Given the description of an element on the screen output the (x, y) to click on. 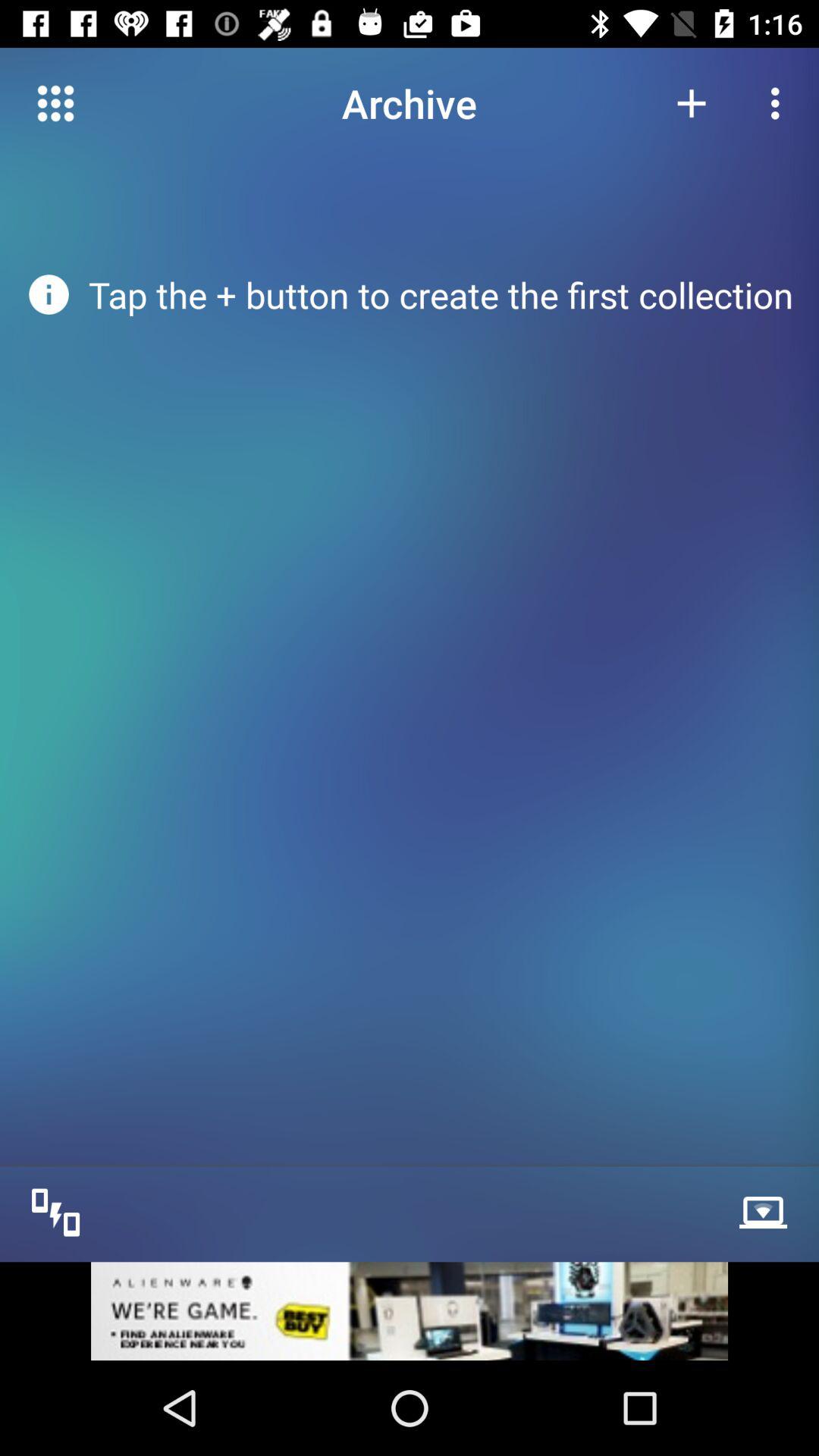
number pad option (55, 103)
